Given the description of an element on the screen output the (x, y) to click on. 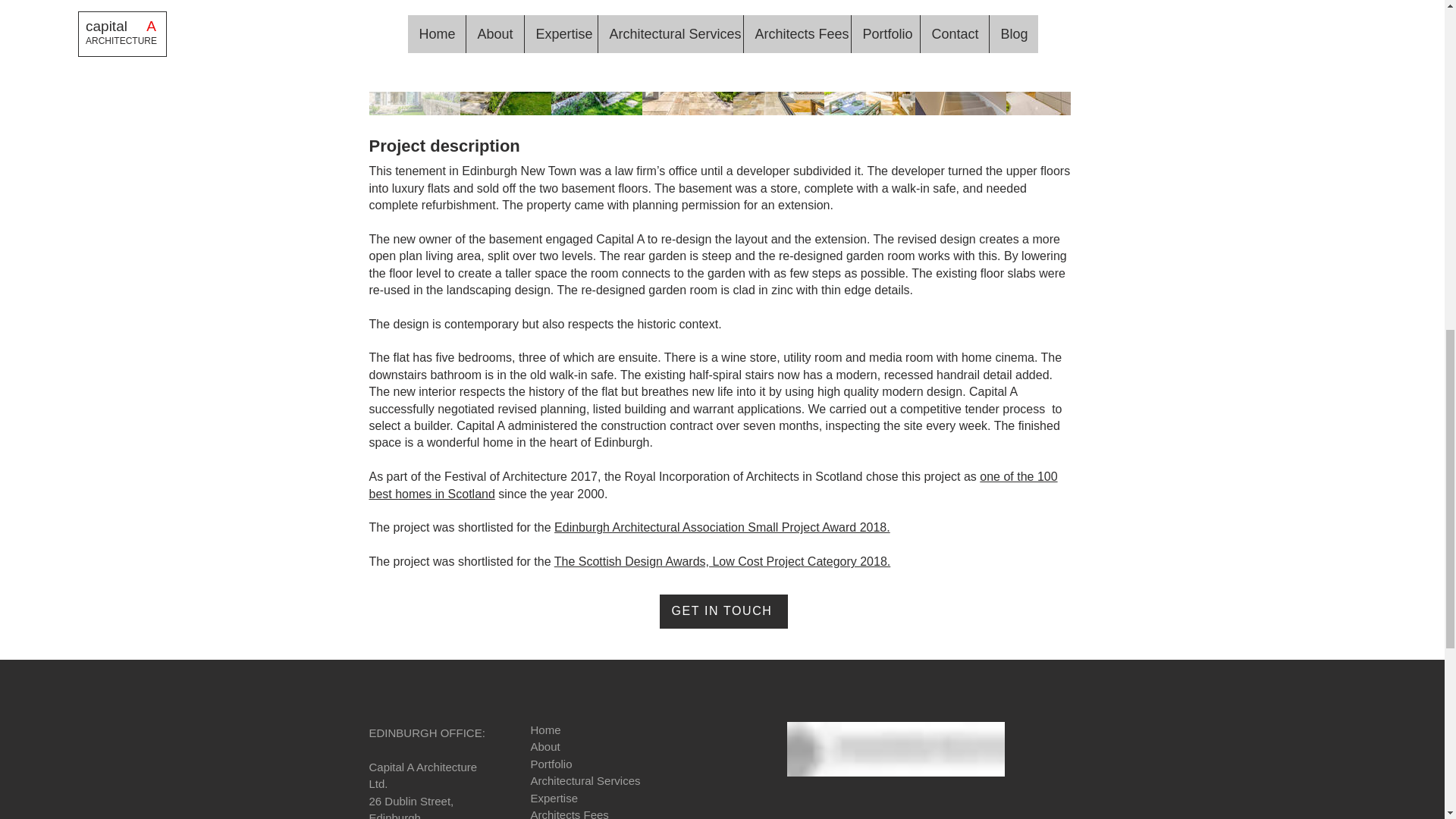
Architectural Services (585, 780)
Expertise (554, 797)
Sharpscott Top 5 Architects in Edinburgh (828, 815)
The Scottish Design Awards, Low Cost Project Category 2018. (721, 561)
Portfolio (551, 763)
RIAS chartered practice  (895, 748)
Architects Fees  (571, 813)
one of the 100 best homes in Scotland (712, 484)
GET IN TOUCH (723, 611)
About  (547, 746)
Project description (443, 145)
Home (545, 729)
